Given the description of an element on the screen output the (x, y) to click on. 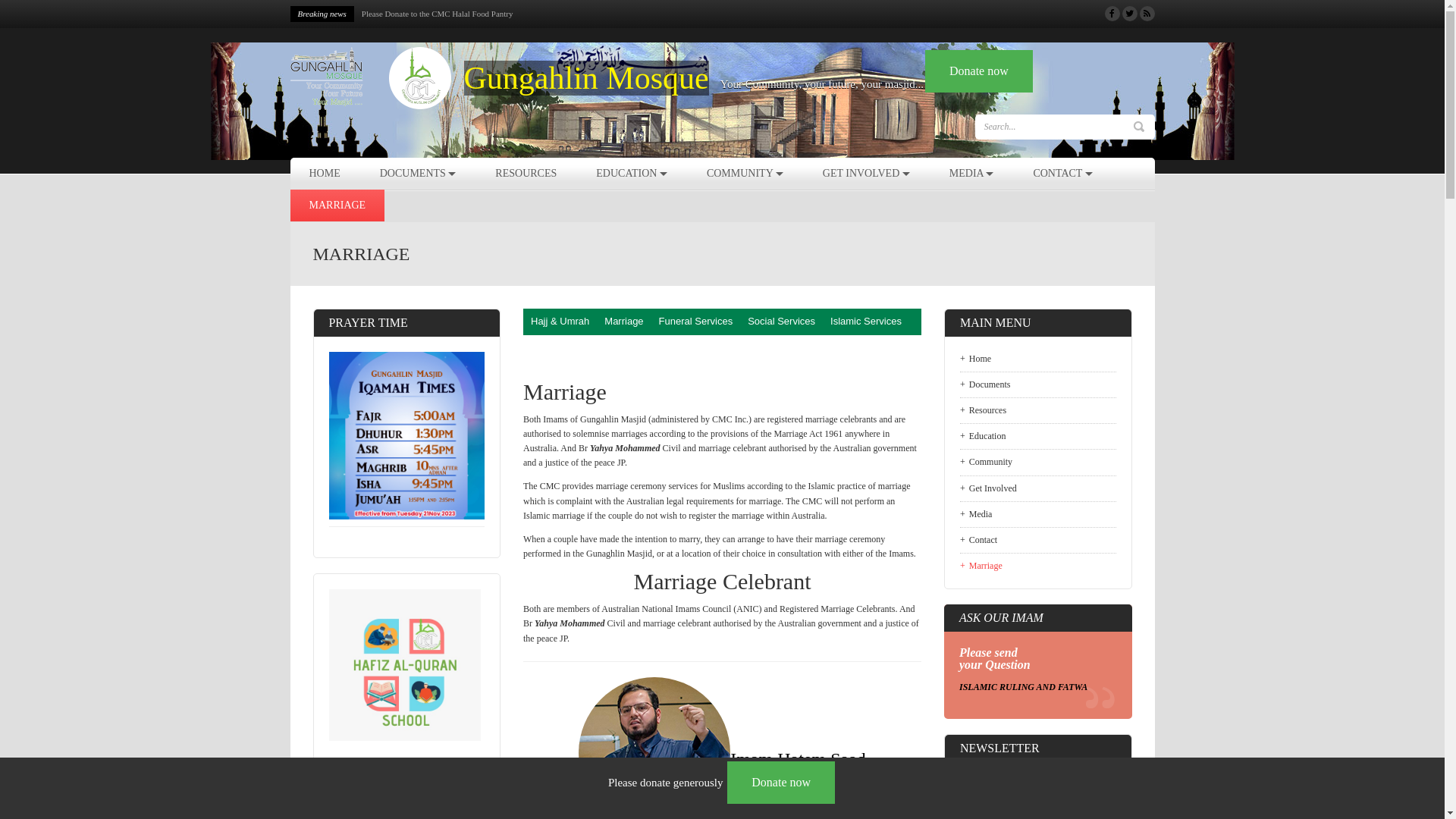
COMMUNITY Element type: text (744, 173)
Contact Element type: text (1038, 539)
DOCUMENTS Element type: text (417, 173)
Skip to main content Element type: text (37, 0)
Community Element type: text (1038, 461)
Donate now Element type: text (780, 782)
MEDIA Element type: text (971, 173)
Enter the terms you wish to search for. Element type: hover (1055, 126)
CONTACT Element type: text (1061, 173)
Funeral Services Element type: text (695, 321)
Islamic Services Element type: text (865, 321)
CMC Newsletter - Mar/Apr 2020 Element type: text (1030, 783)
RESOURCES Element type: text (525, 173)
Twitter Element type: hover (1129, 13)
MARRIAGE Element type: text (336, 205)
RSS Element type: hover (1146, 13)
Marriage Element type: text (1038, 563)
Quran class for brothers Element type: text (401, 13)
Social Services Element type: text (781, 321)
Home Element type: hover (370, 78)
Education Element type: text (1038, 435)
Home Element type: text (1038, 358)
EDUCATION Element type: text (631, 173)
Please send
your Question Element type: text (994, 658)
Marriage Element type: text (623, 321)
Documents Element type: text (1038, 384)
Get Involved Element type: text (1038, 488)
Donate now Element type: text (978, 71)
Search Element type: text (1138, 126)
Resources Element type: text (1038, 410)
Gungahlin Mosque Element type: text (586, 77)
HOME Element type: text (323, 173)
ISLAMIC RULING AND FATWA Element type: text (1023, 686)
Media Element type: text (1038, 514)
Hajj & Umrah Element type: text (559, 321)
GET INVOLVED Element type: text (865, 173)
Facebook Element type: hover (1111, 13)
